Given the description of an element on the screen output the (x, y) to click on. 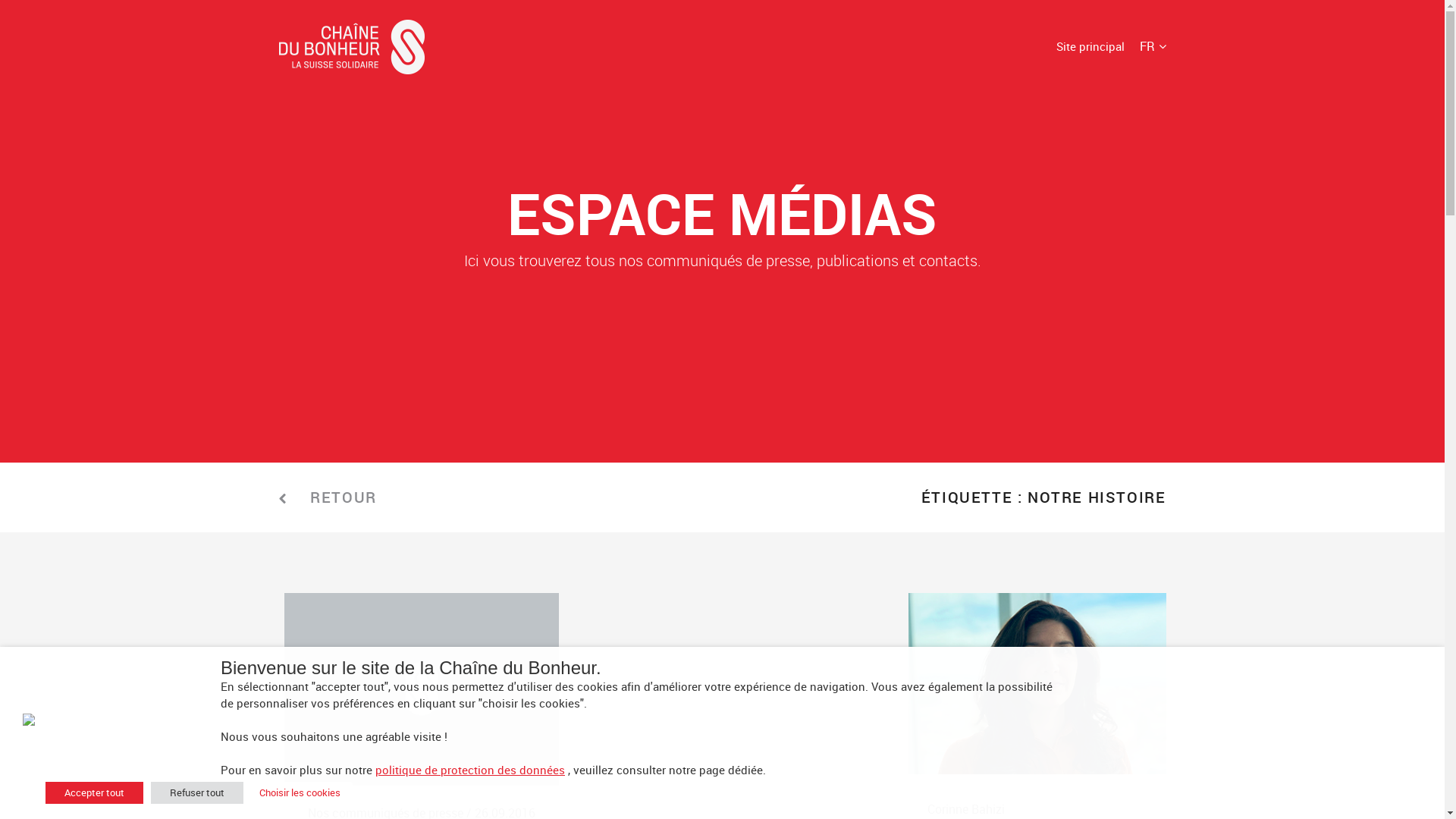
Site principal Element type: text (1089, 45)
FR Element type: text (1152, 45)
Refuser tout Element type: text (196, 792)
RETOUR Element type: text (343, 496)
Accepter tout Element type: text (94, 792)
Choisir les cookies Element type: text (299, 792)
